Given the description of an element on the screen output the (x, y) to click on. 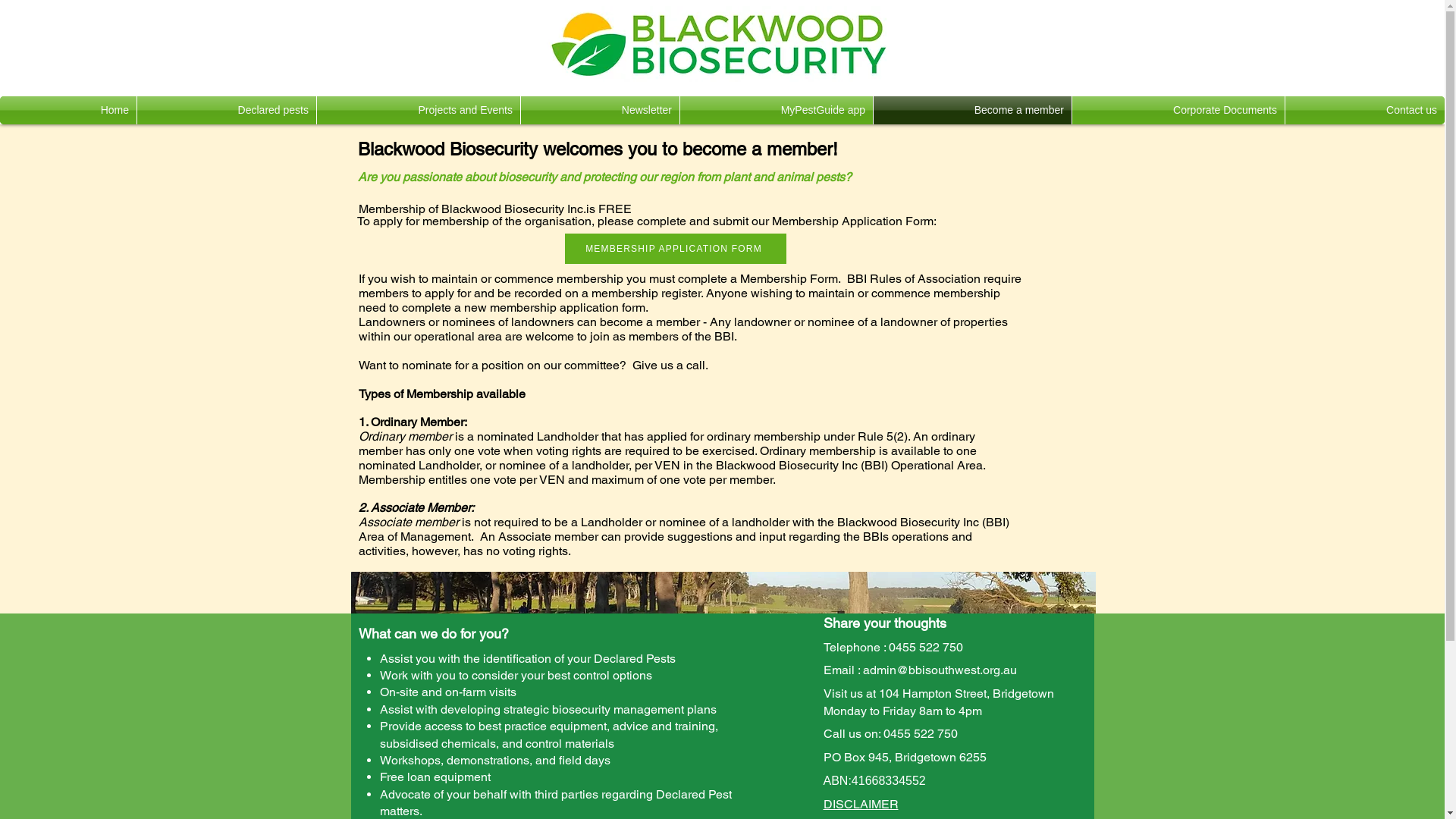
admin@bbisouthwest.org.au Element type: text (939, 669)
MEMBERSHIP APPLICATION FORM Element type: text (674, 248)
Newsletter Element type: text (599, 110)
Become a member Element type: text (972, 110)
DISCLAIMER Element type: text (860, 804)
Projects and Events Element type: text (418, 110)
image001_edited.jpg Element type: hover (722, 592)
MyPestGuide app Element type: text (776, 110)
LogoWhiteWithYellowText.jpg Element type: hover (719, 43)
Contact us Element type: text (1364, 110)
Home Element type: text (68, 110)
